Given the description of an element on the screen output the (x, y) to click on. 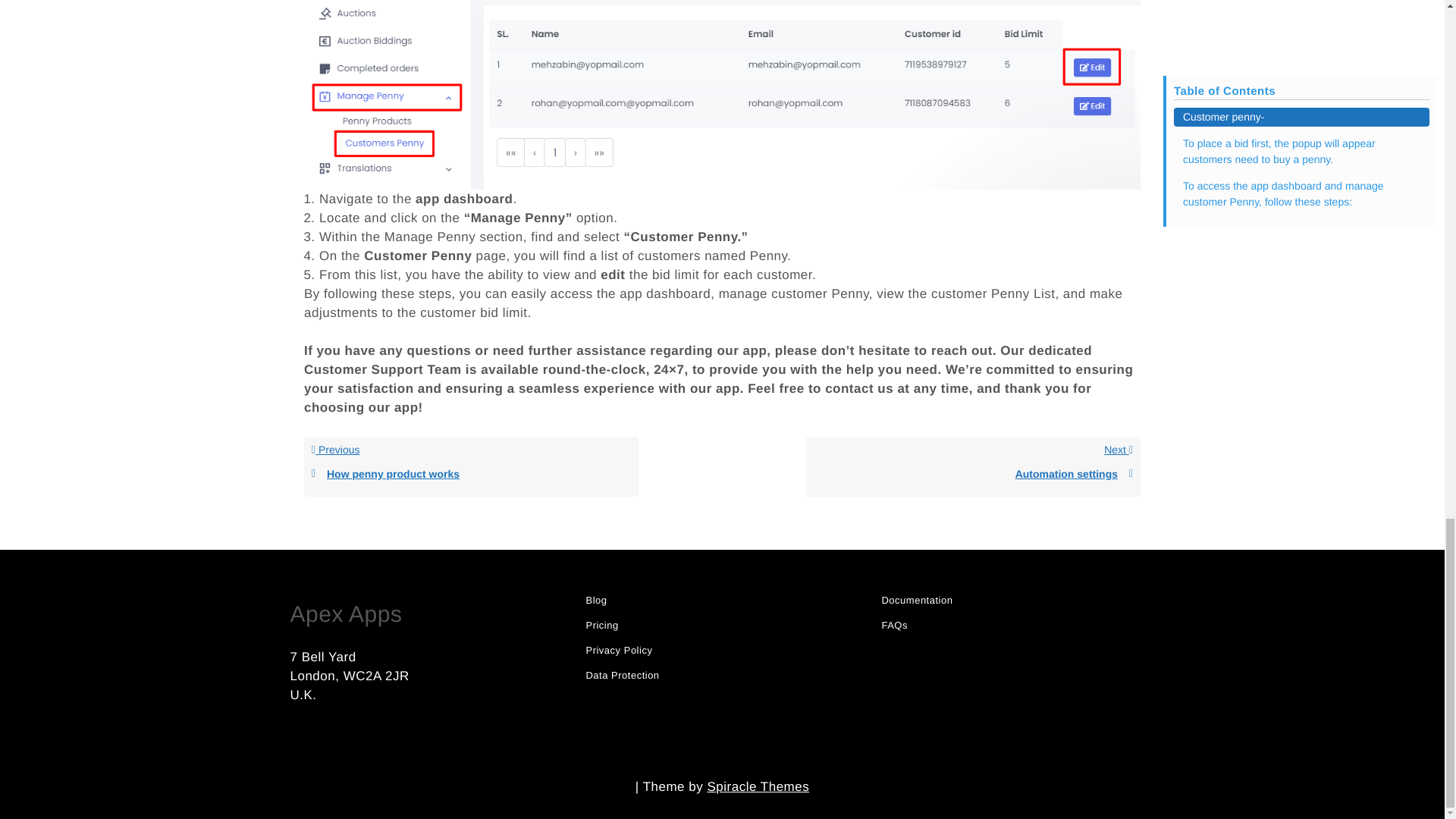
How penny product works (470, 473)
Data Protection (622, 675)
Privacy Policy (618, 650)
Pricing (471, 466)
Spiracle Themes (601, 625)
FAQs (757, 786)
Documentation (973, 466)
Blog (893, 625)
Automation settings (916, 600)
